Given the description of an element on the screen output the (x, y) to click on. 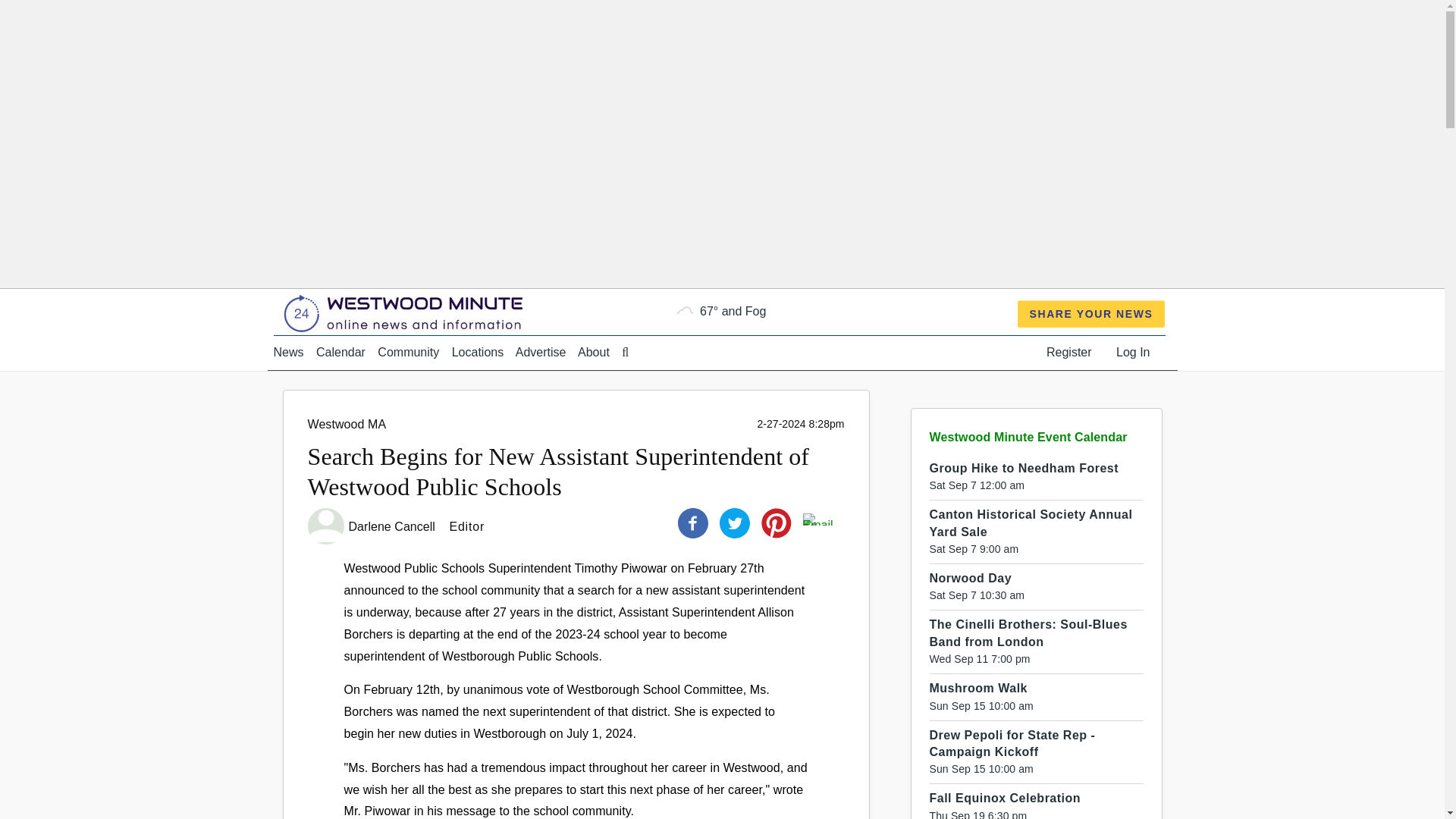
Register (1069, 351)
Facebook (692, 522)
Darlene Cancell (394, 526)
Westwood Minute (405, 311)
Advertise (540, 351)
About (594, 351)
SHARE YOUR NEWS (1091, 313)
SHARE YOUR NEWS (1091, 313)
Calendar (340, 351)
Email (817, 517)
